Given the description of an element on the screen output the (x, y) to click on. 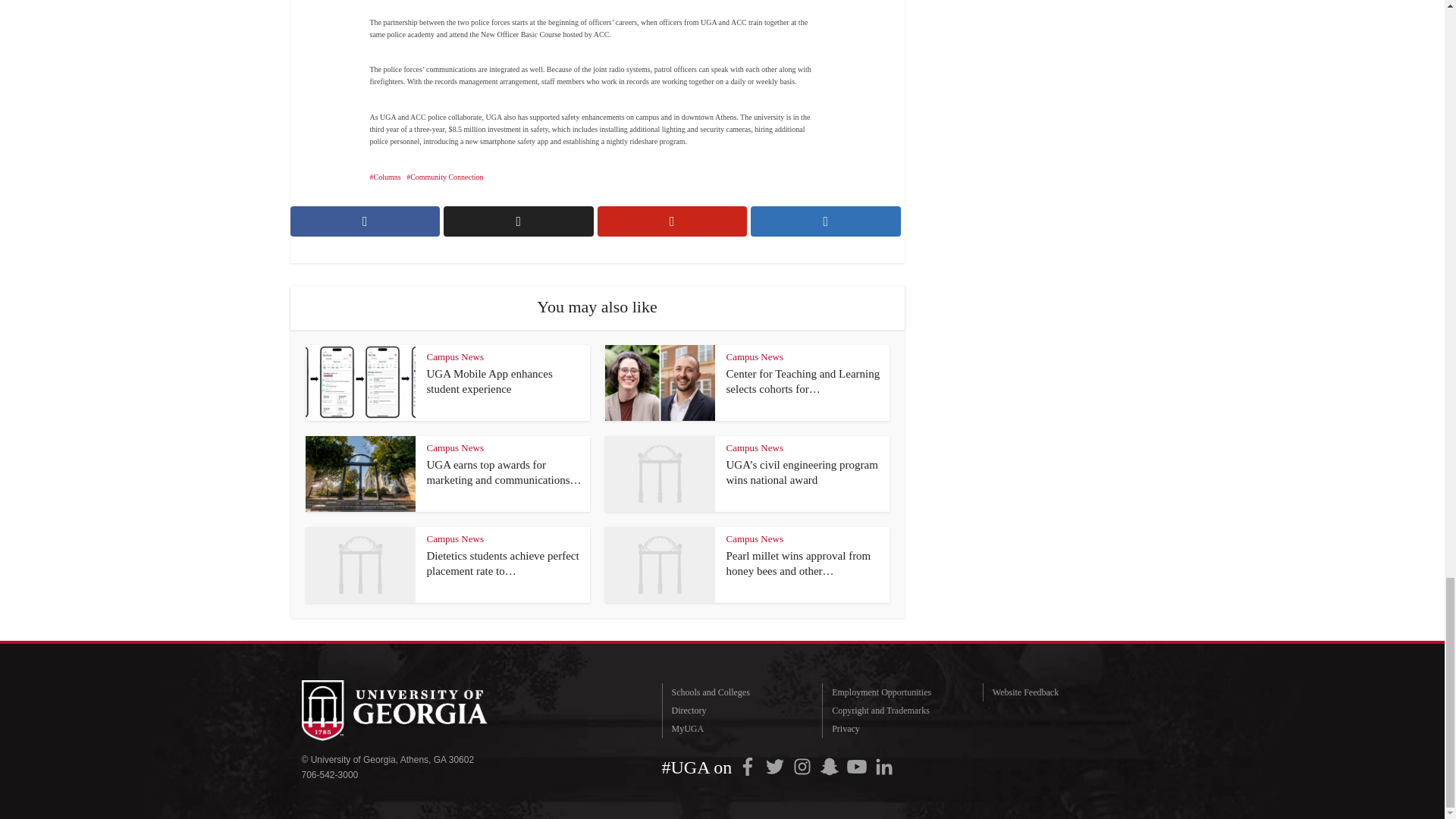
Columns (385, 176)
Community Connection (444, 176)
Campus News (454, 356)
Facebook (747, 766)
YouTube (856, 766)
Facebook (747, 766)
LinkedIn (883, 766)
Snapchat (829, 766)
LinkedIn (883, 766)
YouTube (856, 766)
Twitter (774, 766)
Instagram (801, 766)
Snapchat (829, 766)
